Given the description of an element on the screen output the (x, y) to click on. 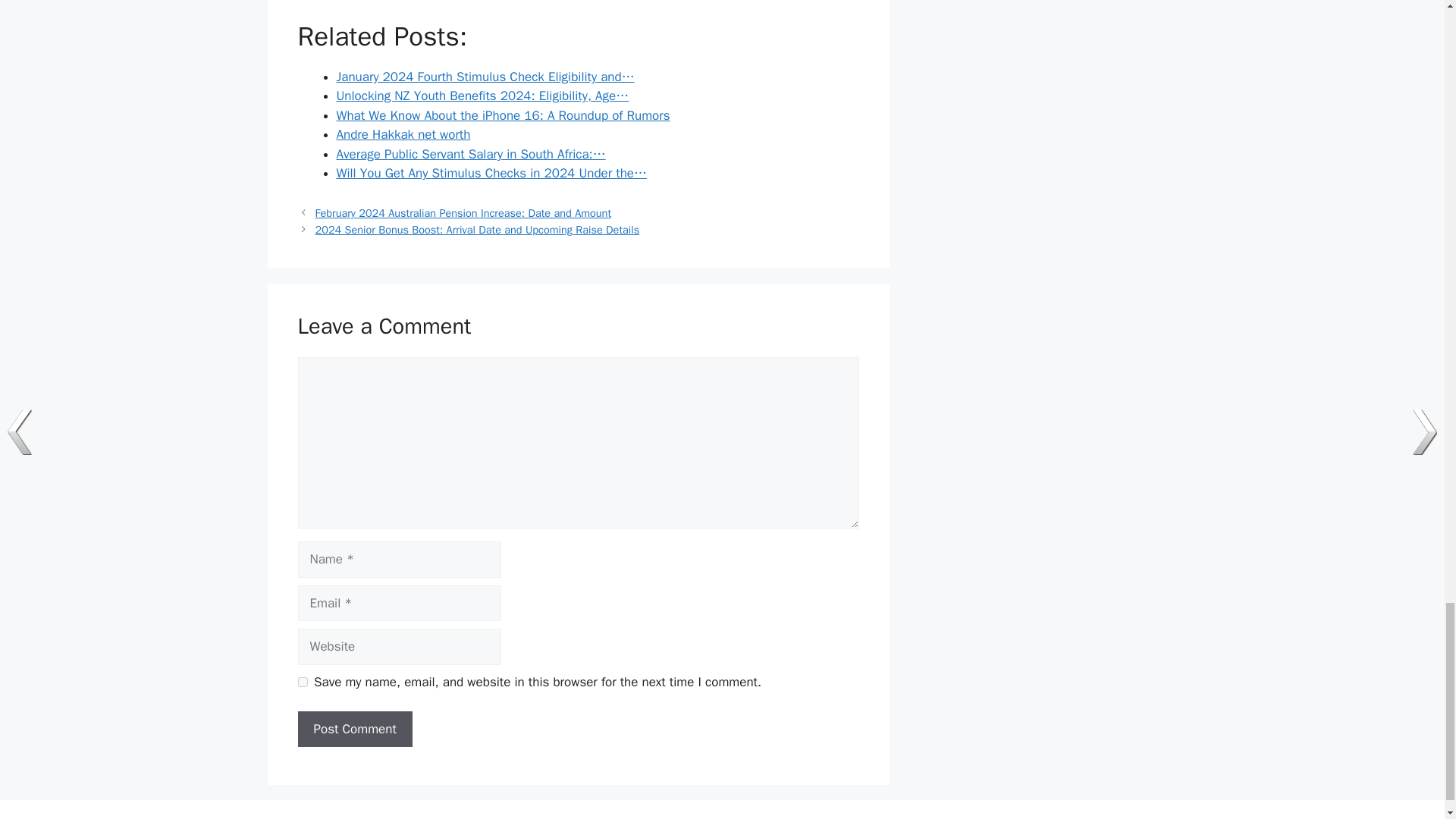
What We Know About the iPhone 16: A Roundup of Rumors (502, 115)
yes (302, 682)
Post Comment (354, 729)
February 2024 Australian Pension Increase: Date and Amount (463, 213)
Post Comment (354, 729)
Andre Hakkak net worth (403, 134)
